Given the description of an element on the screen output the (x, y) to click on. 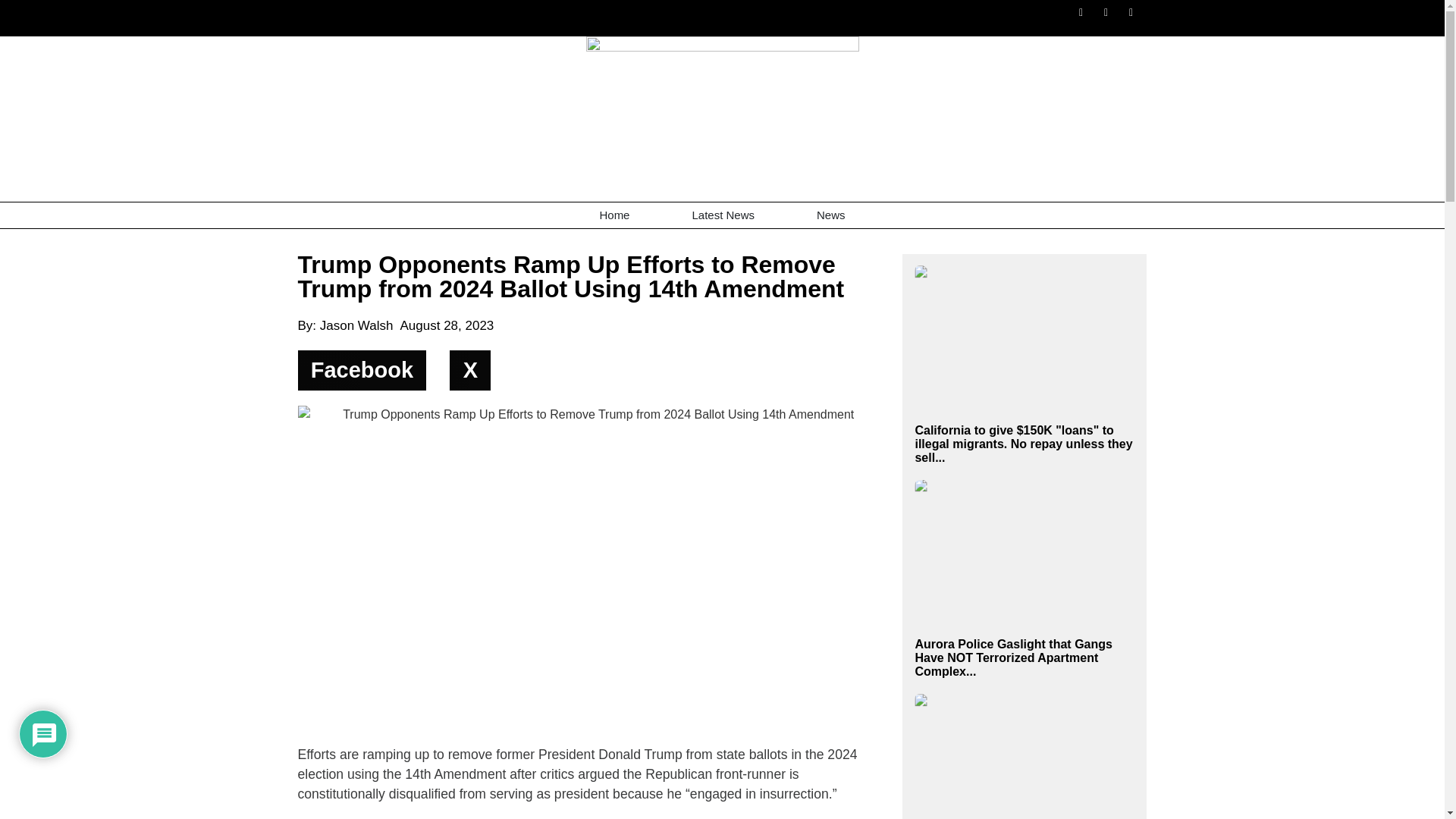
News (831, 215)
By: Jason Walsh (345, 325)
Home (614, 215)
indictments (507, 818)
Latest News (723, 215)
August 28, 2023 (445, 325)
